Given the description of an element on the screen output the (x, y) to click on. 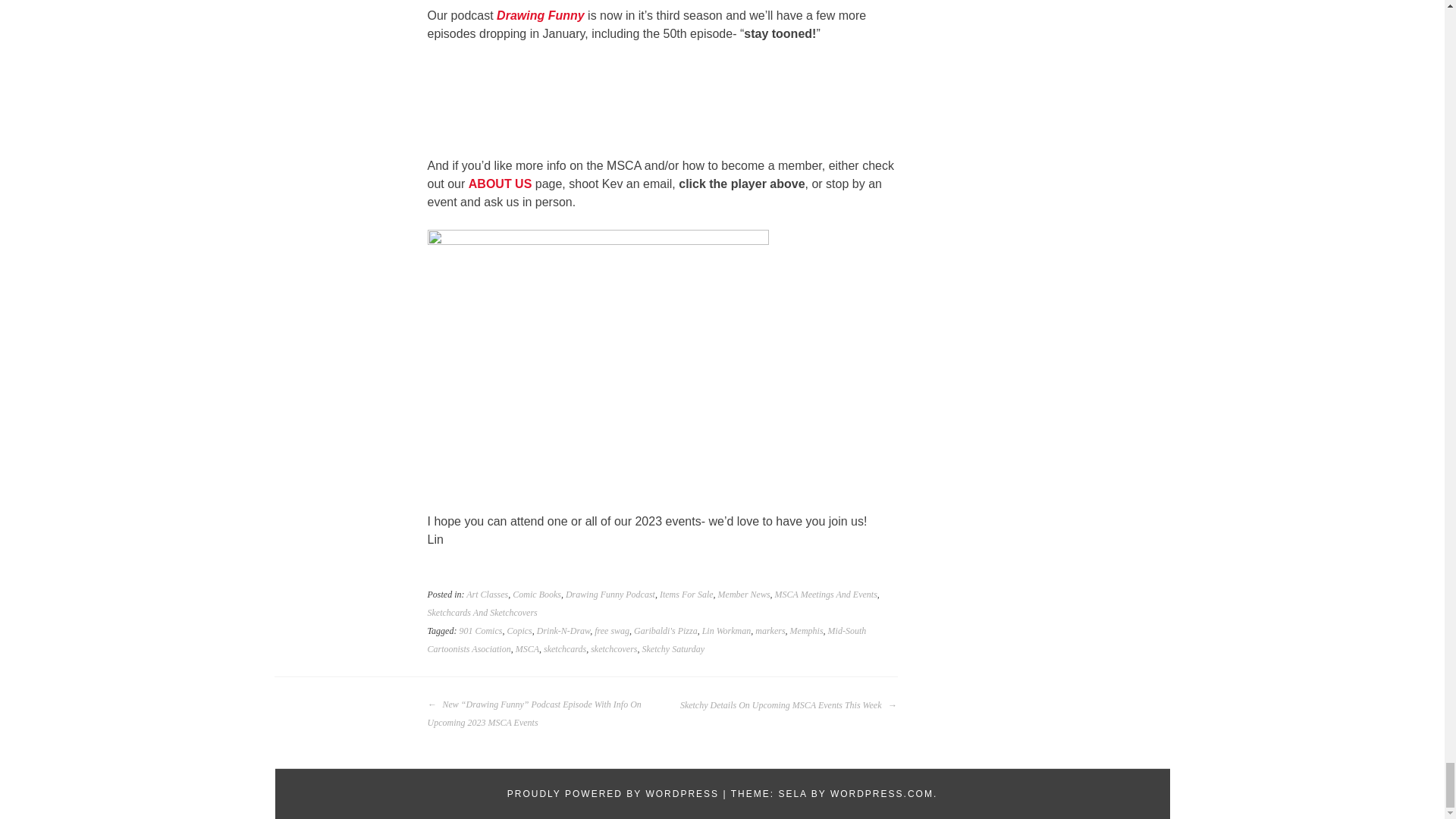
Lin Workman (726, 630)
Member News (743, 593)
Copics (518, 630)
Mid-South Cartoonists Asociation (647, 639)
Memphis (807, 630)
MSCA (526, 648)
Sketchy Saturday (673, 648)
Garibaldi's Pizza (665, 630)
A Semantic Personal Publishing Platform (612, 793)
sketchcovers (614, 648)
free swag (611, 630)
MSCA Meetings And Events (825, 593)
Art Classes (486, 593)
Drawing Funny Podcast (610, 593)
Items For Sale (686, 593)
